Given the description of an element on the screen output the (x, y) to click on. 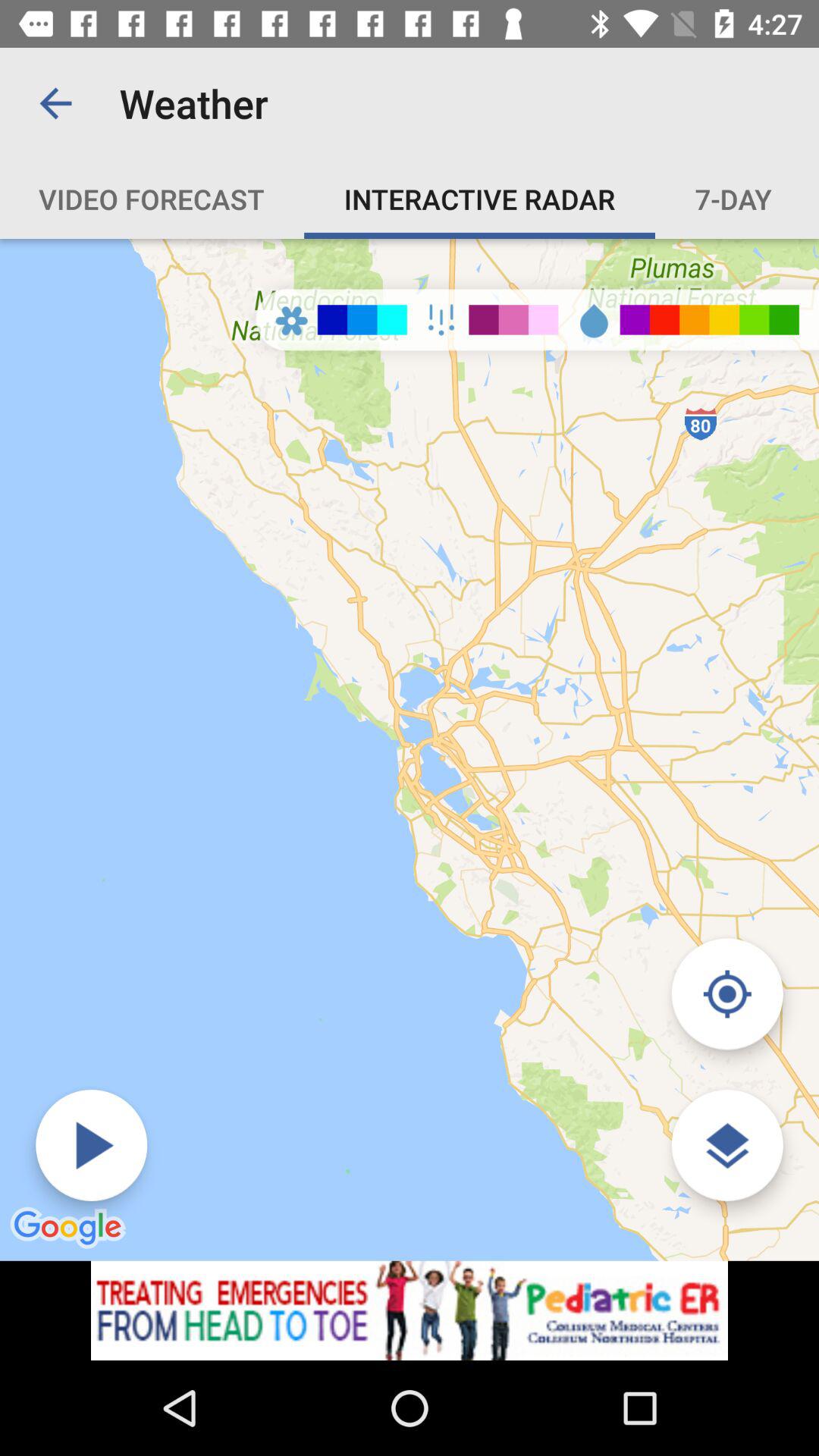
show more detials (727, 1145)
